Given the description of an element on the screen output the (x, y) to click on. 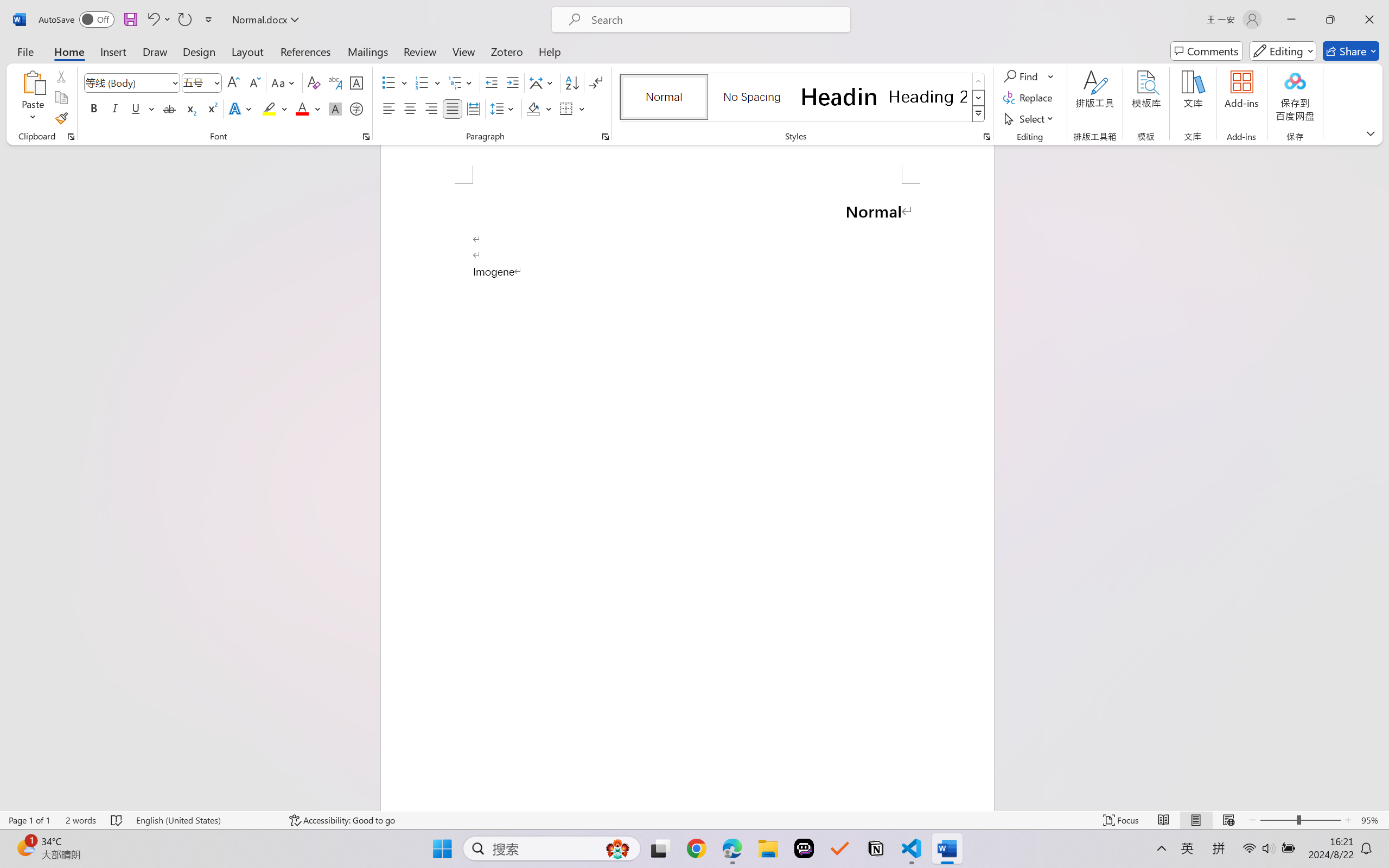
Page Number Page 1 of 1 (29, 819)
Styles... (986, 136)
Font Color (308, 108)
Undo Style (152, 19)
Styles (978, 113)
Page 1 content (687, 497)
Grow Font (233, 82)
